Given the description of an element on the screen output the (x, y) to click on. 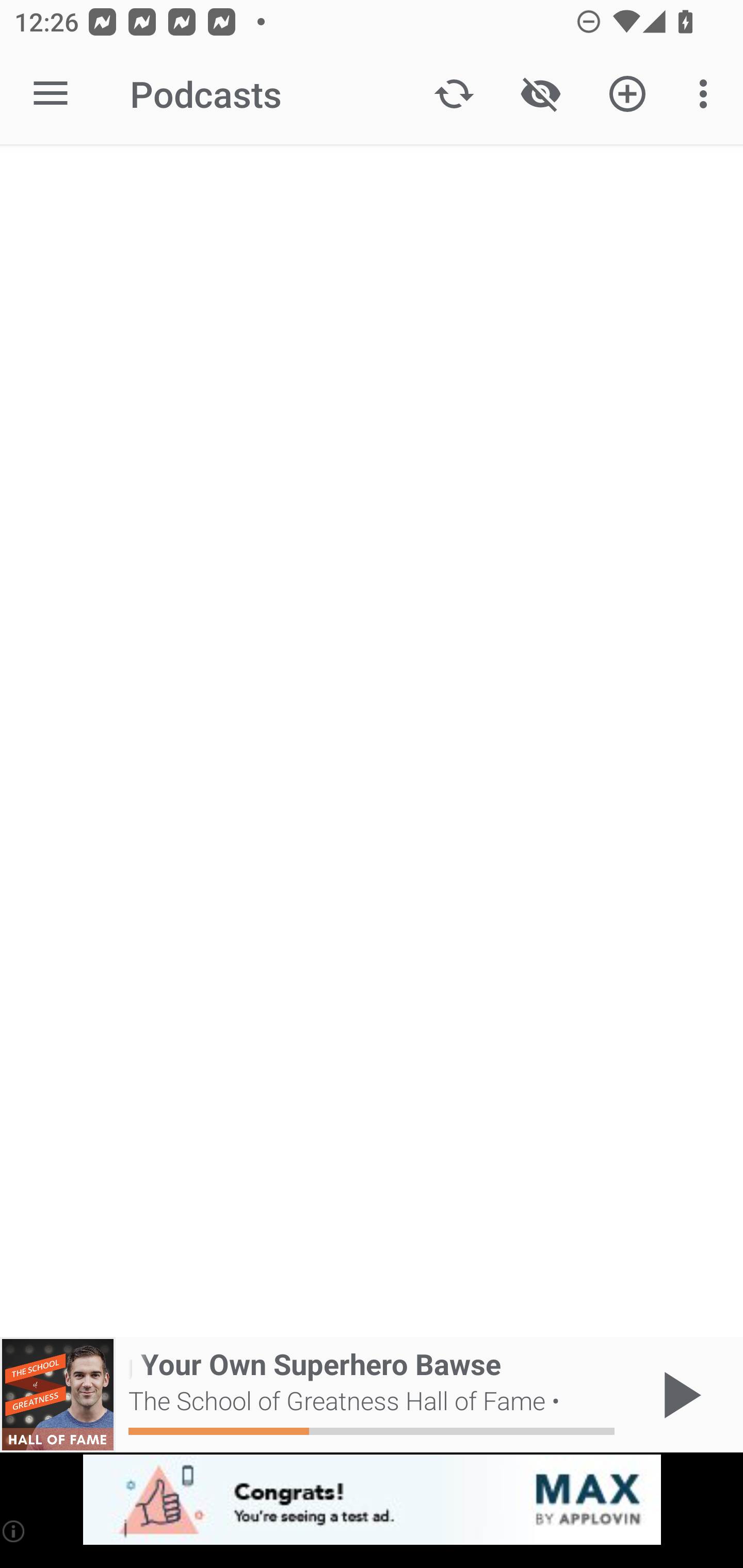
Open navigation sidebar (50, 93)
Update (453, 93)
Show / Hide played content (540, 93)
Add new Podcast (626, 93)
More options (706, 93)
Play / Pause (677, 1394)
app-monetization (371, 1500)
(i) (14, 1531)
